Given the description of an element on the screen output the (x, y) to click on. 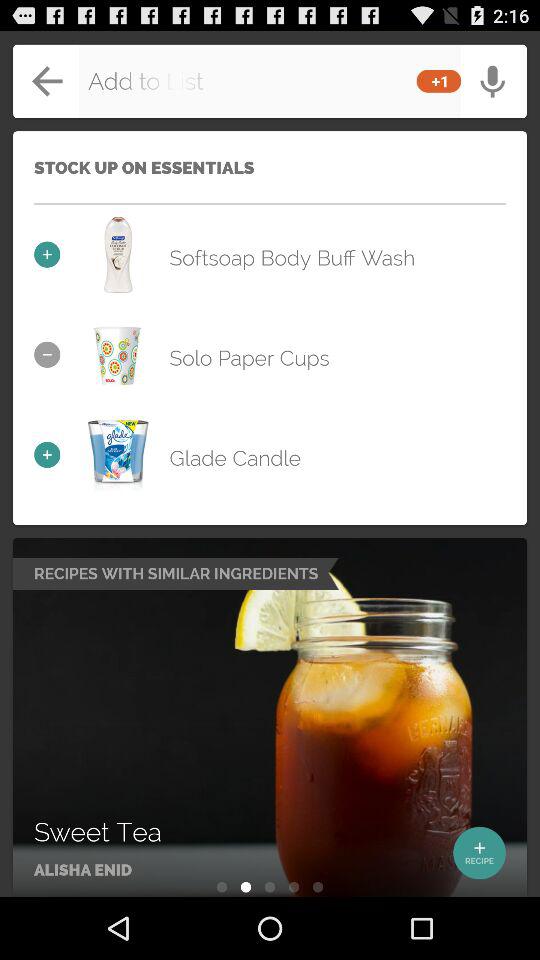
click on the voice search button at top right (489, 73)
